Given the description of an element on the screen output the (x, y) to click on. 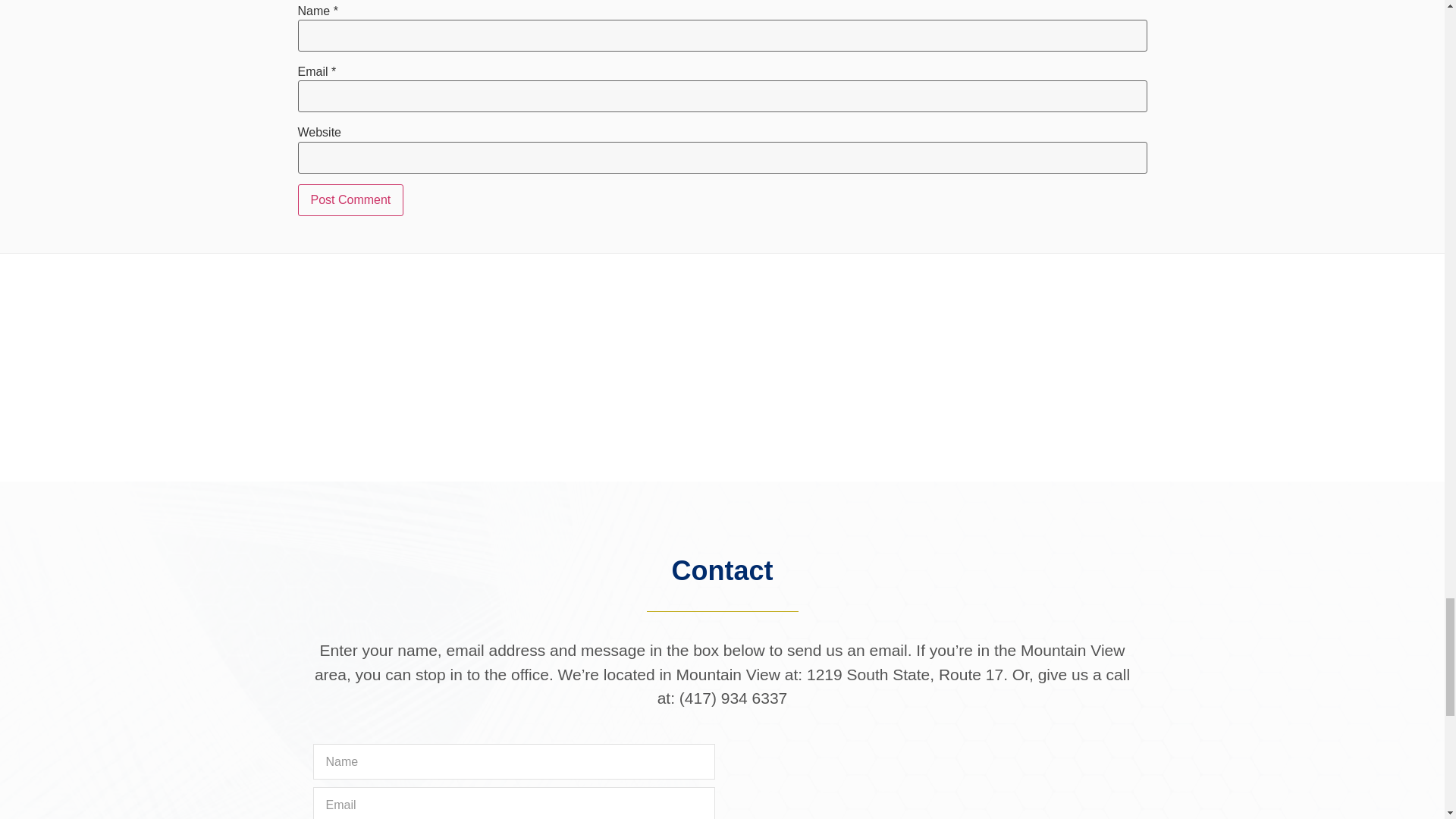
Post Comment (350, 200)
Schierling Chiropractic, Mountain View, MO (930, 781)
